Given the description of an element on the screen output the (x, y) to click on. 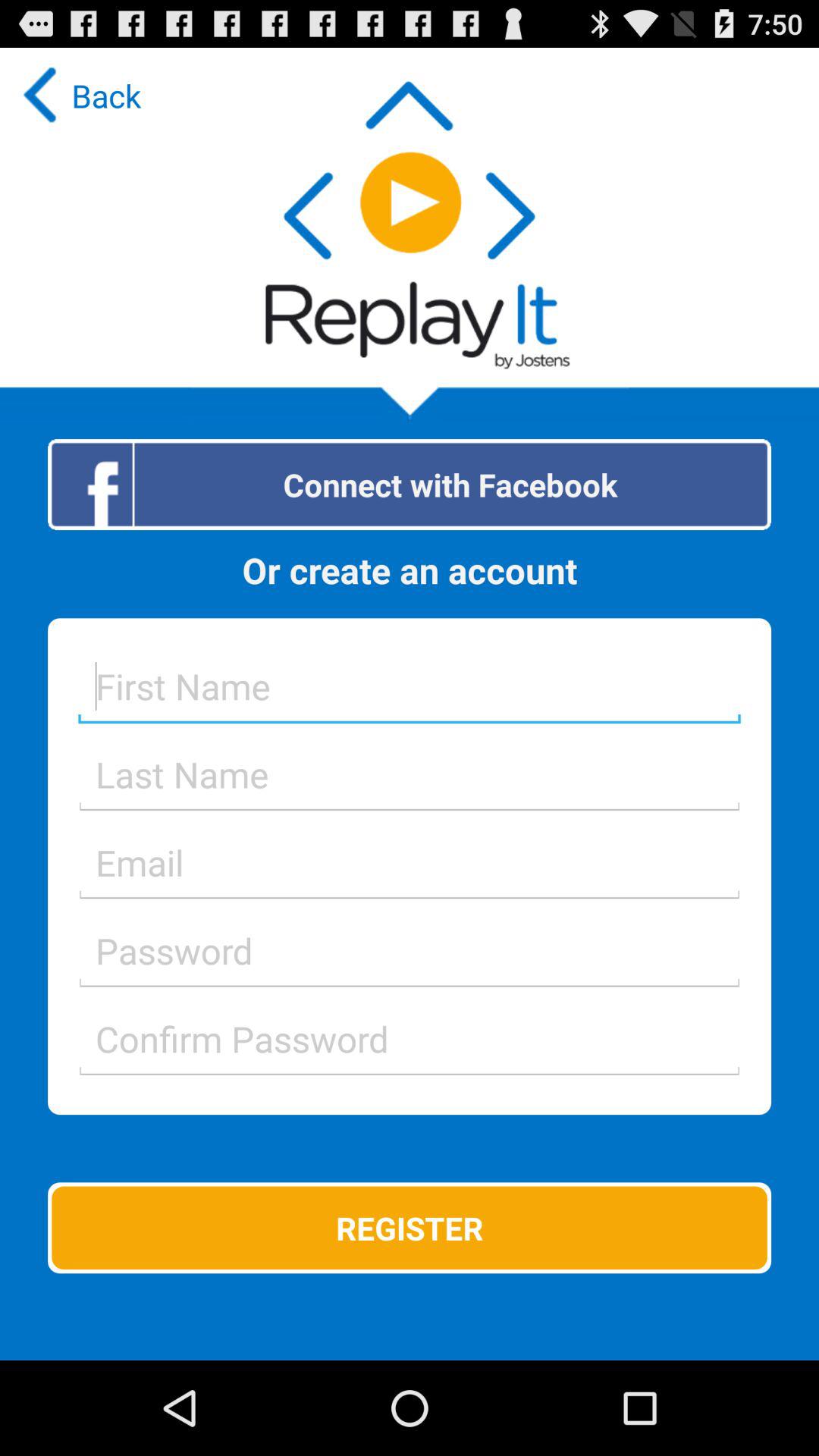
enter email address (409, 862)
